Given the description of an element on the screen output the (x, y) to click on. 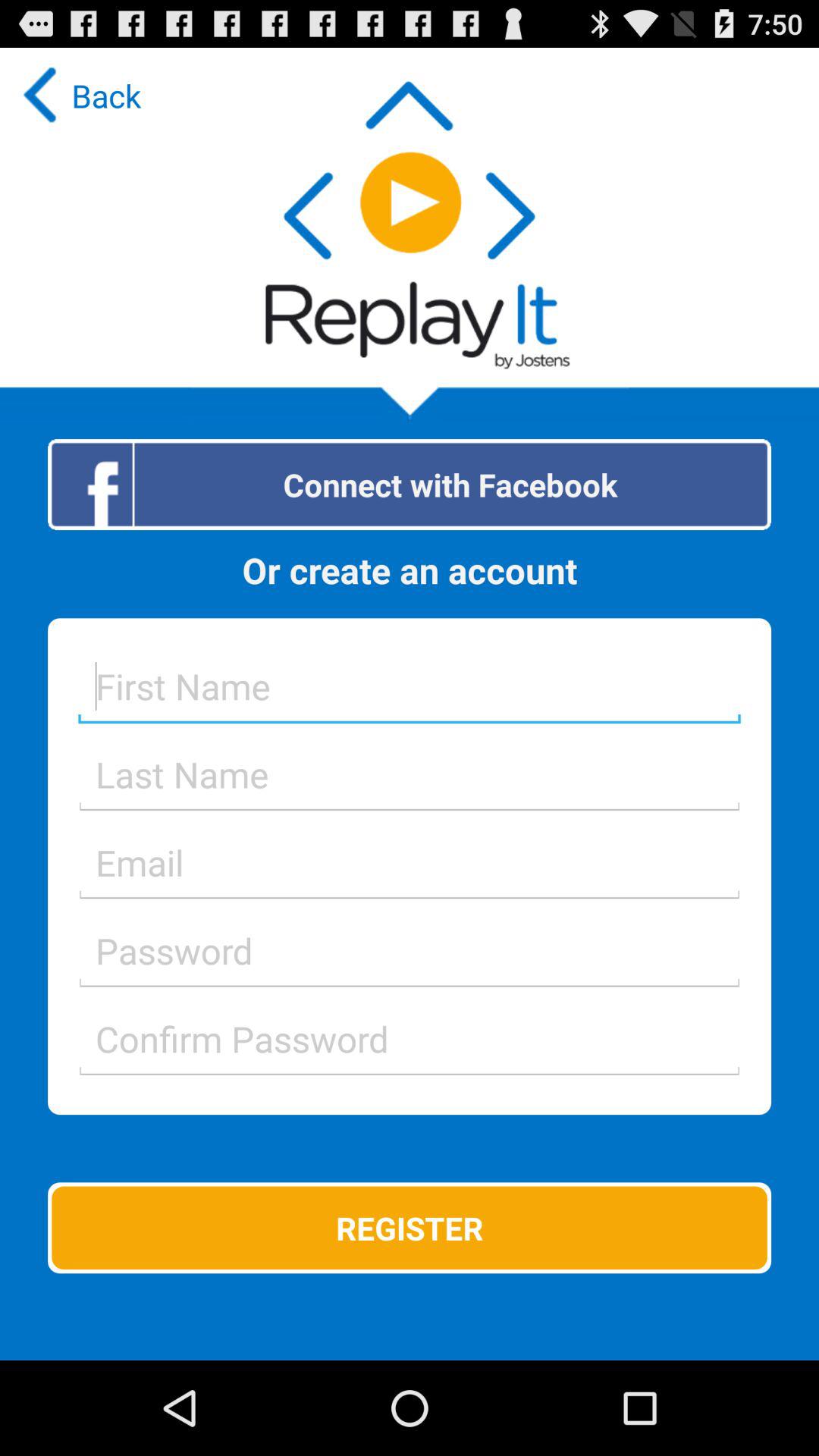
enter email address (409, 862)
